Given the description of an element on the screen output the (x, y) to click on. 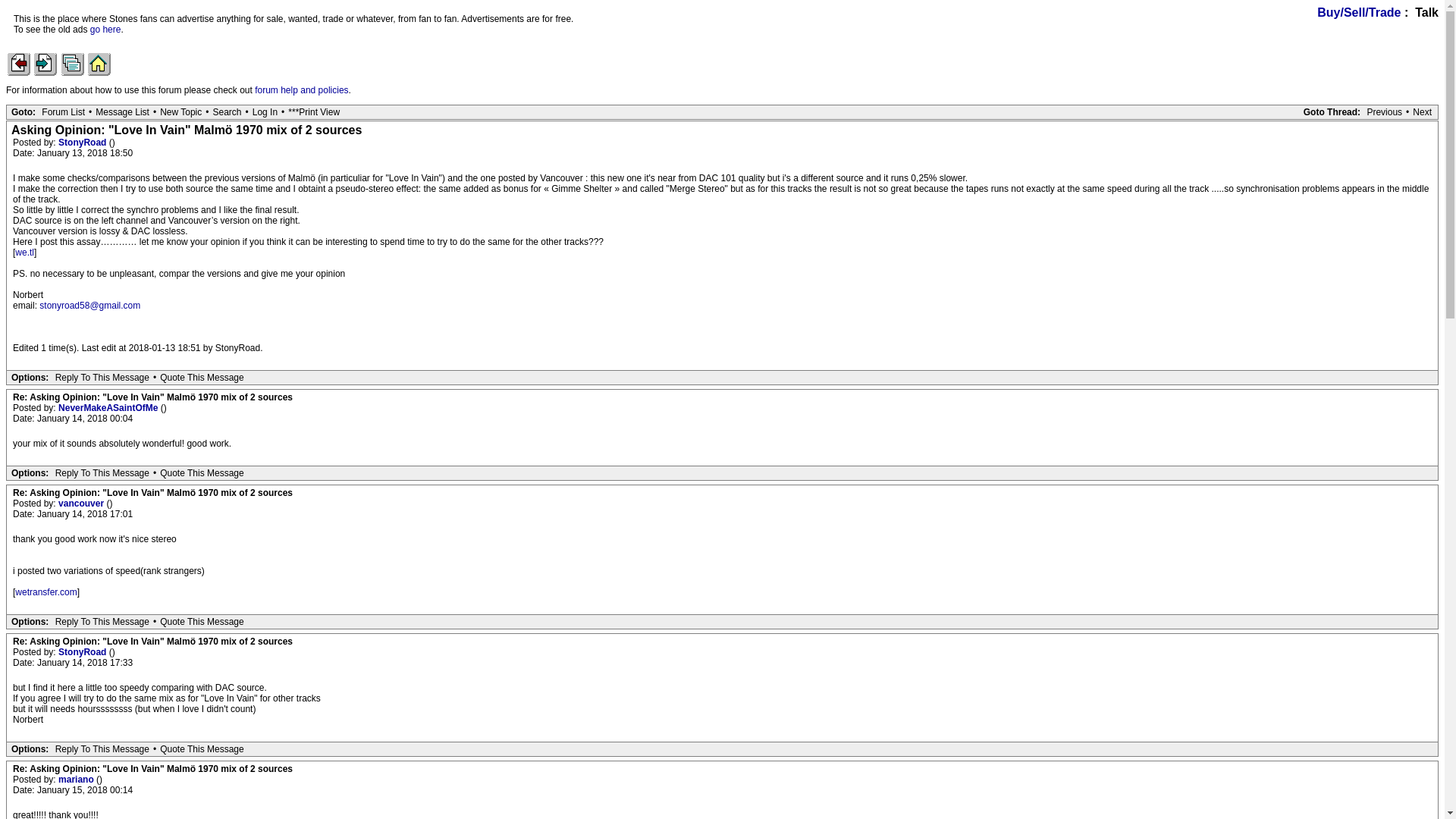
mariano (77, 778)
Reply To This Message (101, 621)
Quote This Message (201, 472)
Quote This Message (201, 748)
Previous (1384, 111)
Quote This Message (201, 621)
we.tl (23, 252)
Message List (121, 111)
forum help and policies (300, 90)
New Topic (180, 111)
